Given the description of an element on the screen output the (x, y) to click on. 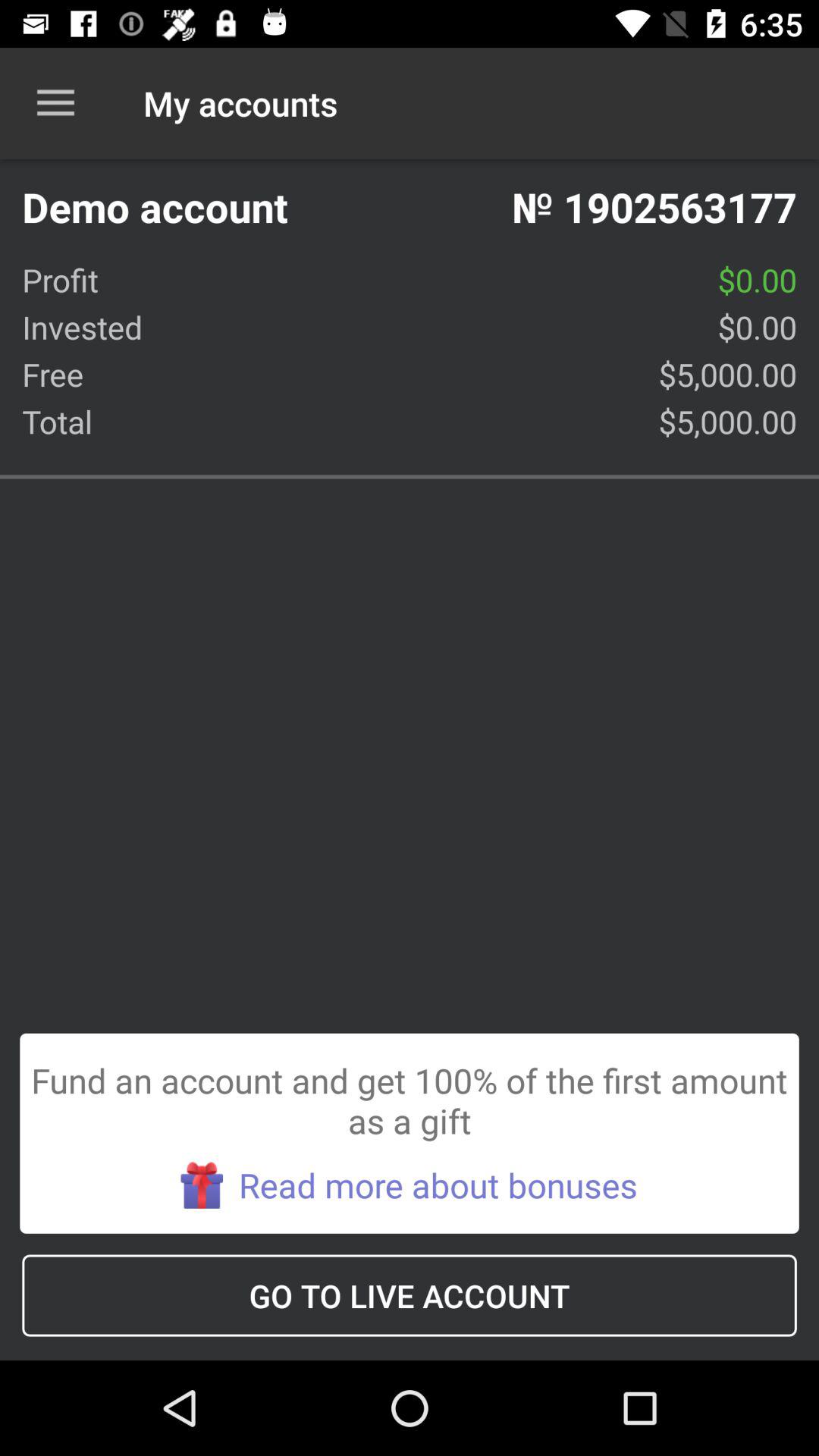
launch the go to live icon (409, 1295)
